Given the description of an element on the screen output the (x, y) to click on. 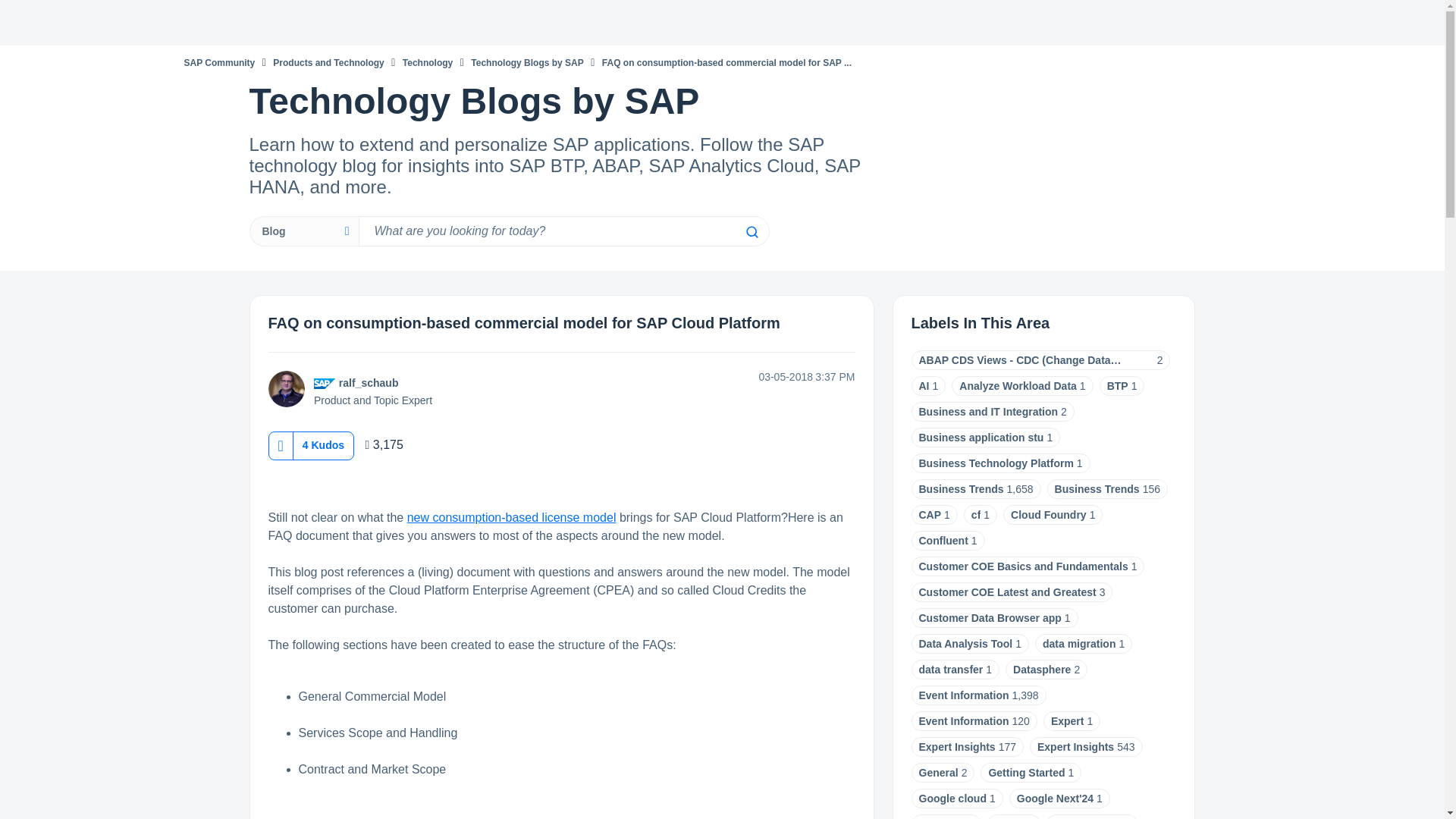
Click here to give kudos to this post. (279, 445)
Business and IT Integration (988, 411)
Search (563, 231)
Product and Topic Expert (325, 383)
Search (750, 232)
4 Kudos (323, 444)
Business Technology Platform (996, 463)
Search (750, 232)
Search Granularity (303, 231)
Posted on (757, 377)
Products and Technology (328, 62)
BTP (1117, 386)
Click here to see who gave kudos to this post. (323, 444)
Technology Blogs by SAP (526, 62)
